Given the description of an element on the screen output the (x, y) to click on. 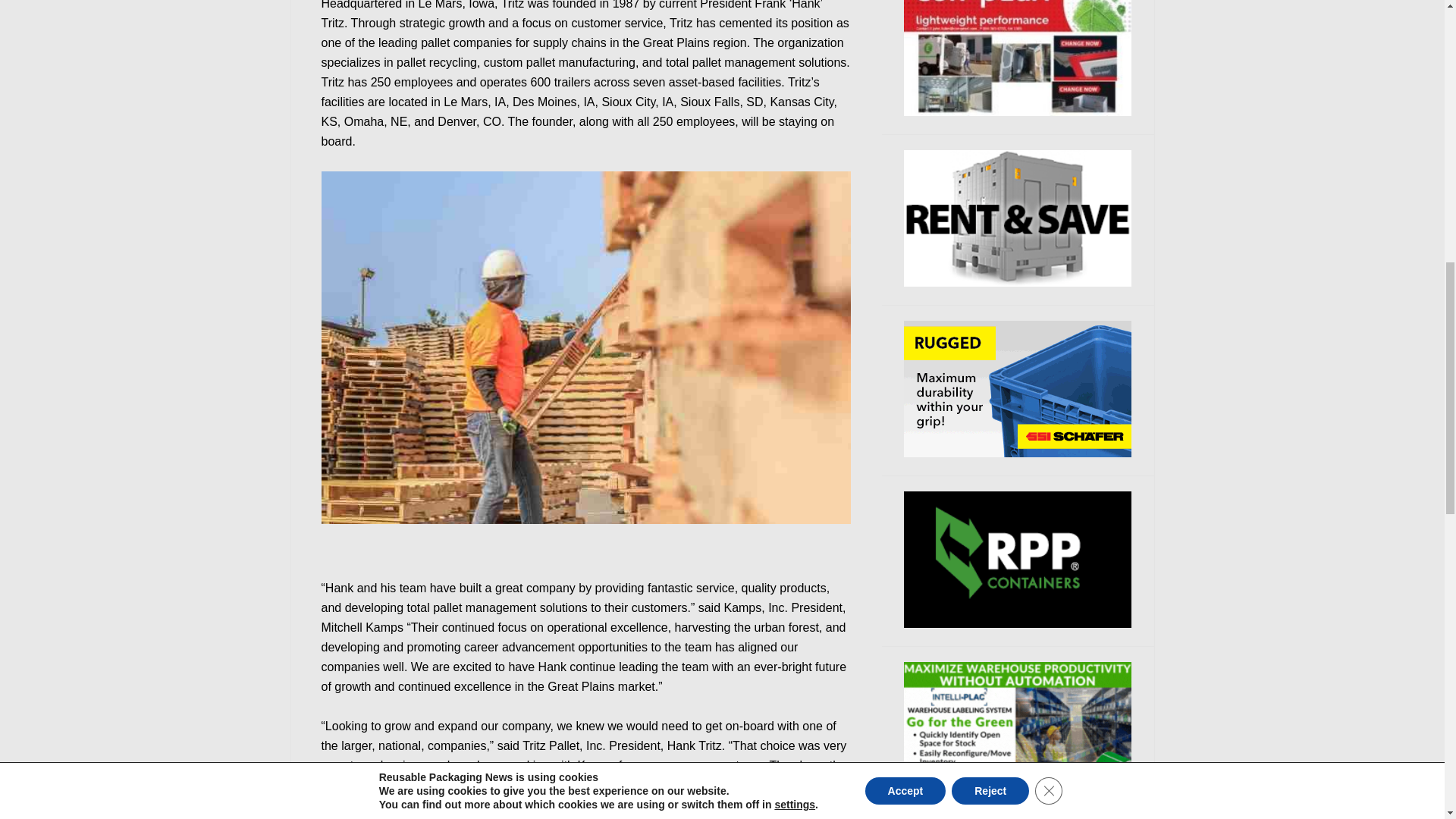
www.filmloc.com (1017, 729)
CONPearl (1017, 58)
RPPContainers.com (1017, 559)
Schaefer (1017, 389)
